Given the description of an element on the screen output the (x, y) to click on. 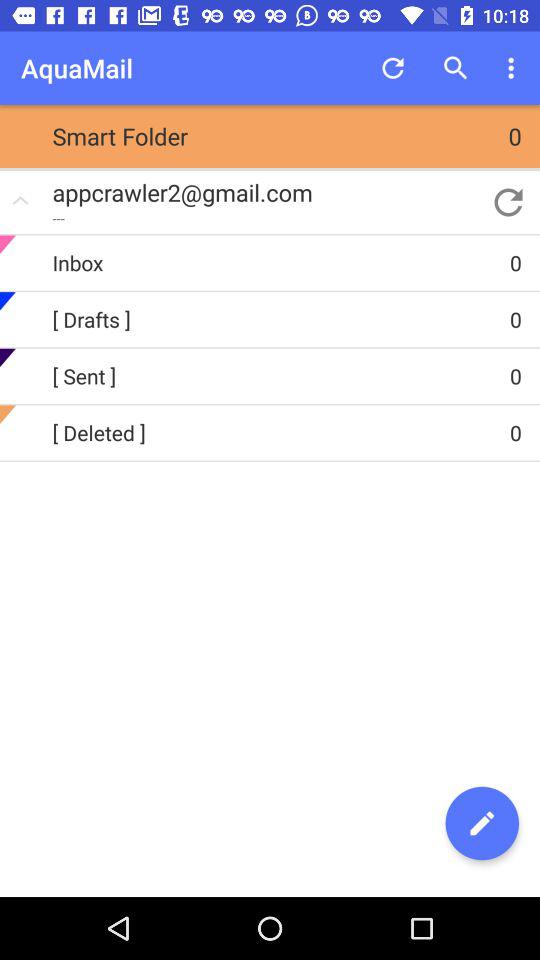
launch app next to aquamail item (392, 67)
